Given the description of an element on the screen output the (x, y) to click on. 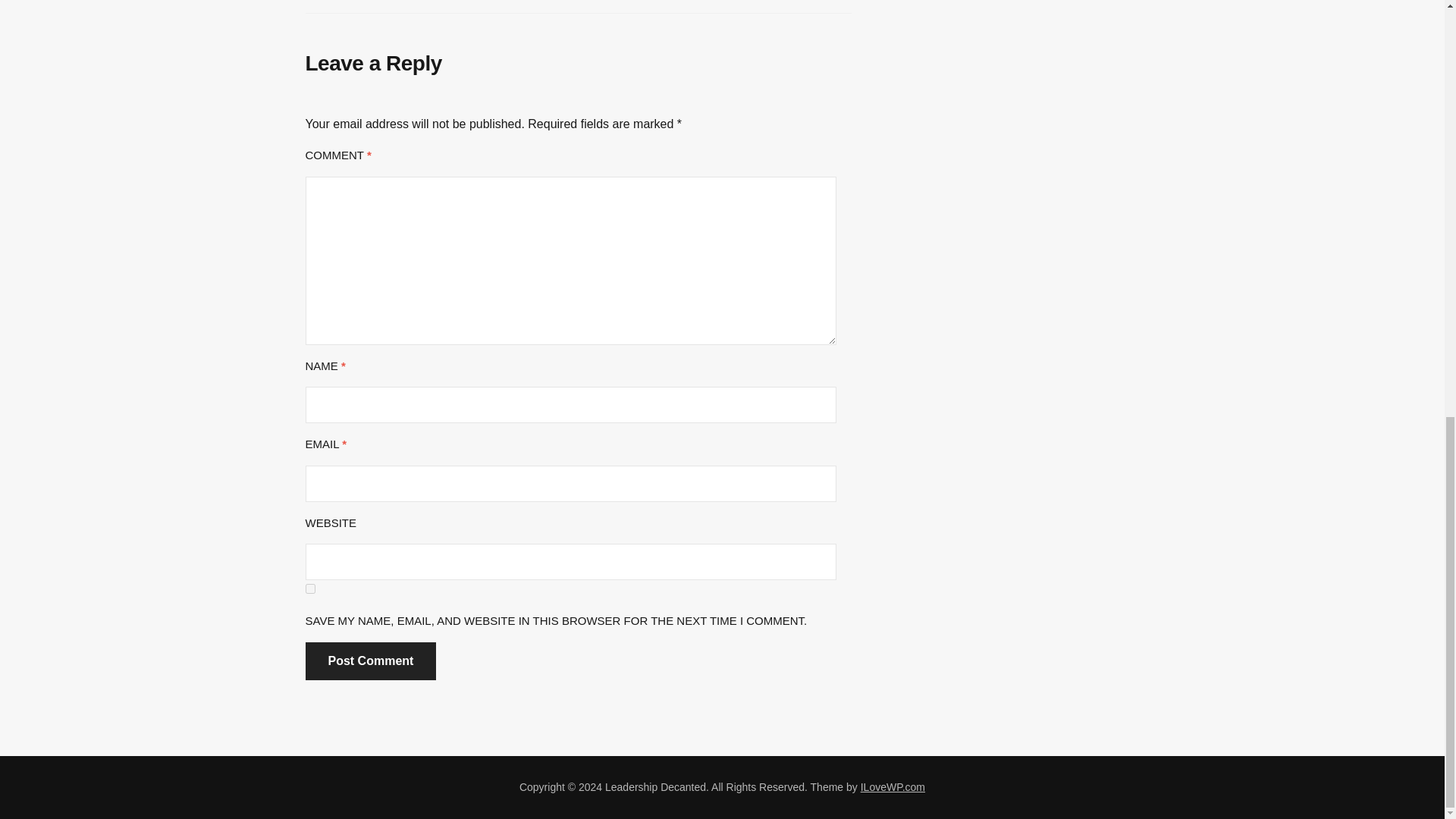
yes (309, 588)
ILoveWP.com (892, 787)
Post Comment (369, 661)
Podcast WordPress Themes (892, 787)
Post Comment (369, 661)
